Given the description of an element on the screen output the (x, y) to click on. 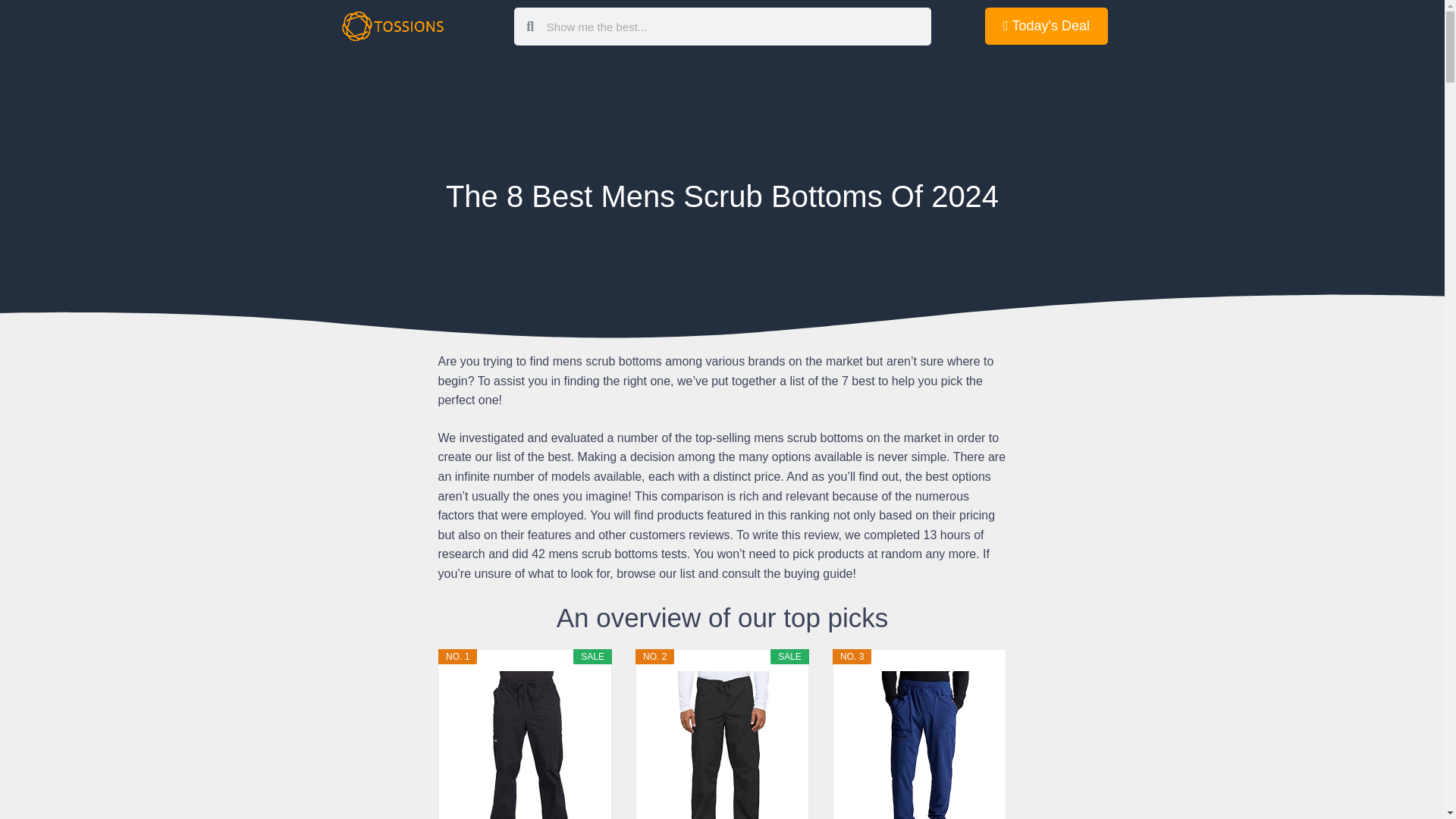
Today's Deal (1046, 26)
